Given the description of an element on the screen output the (x, y) to click on. 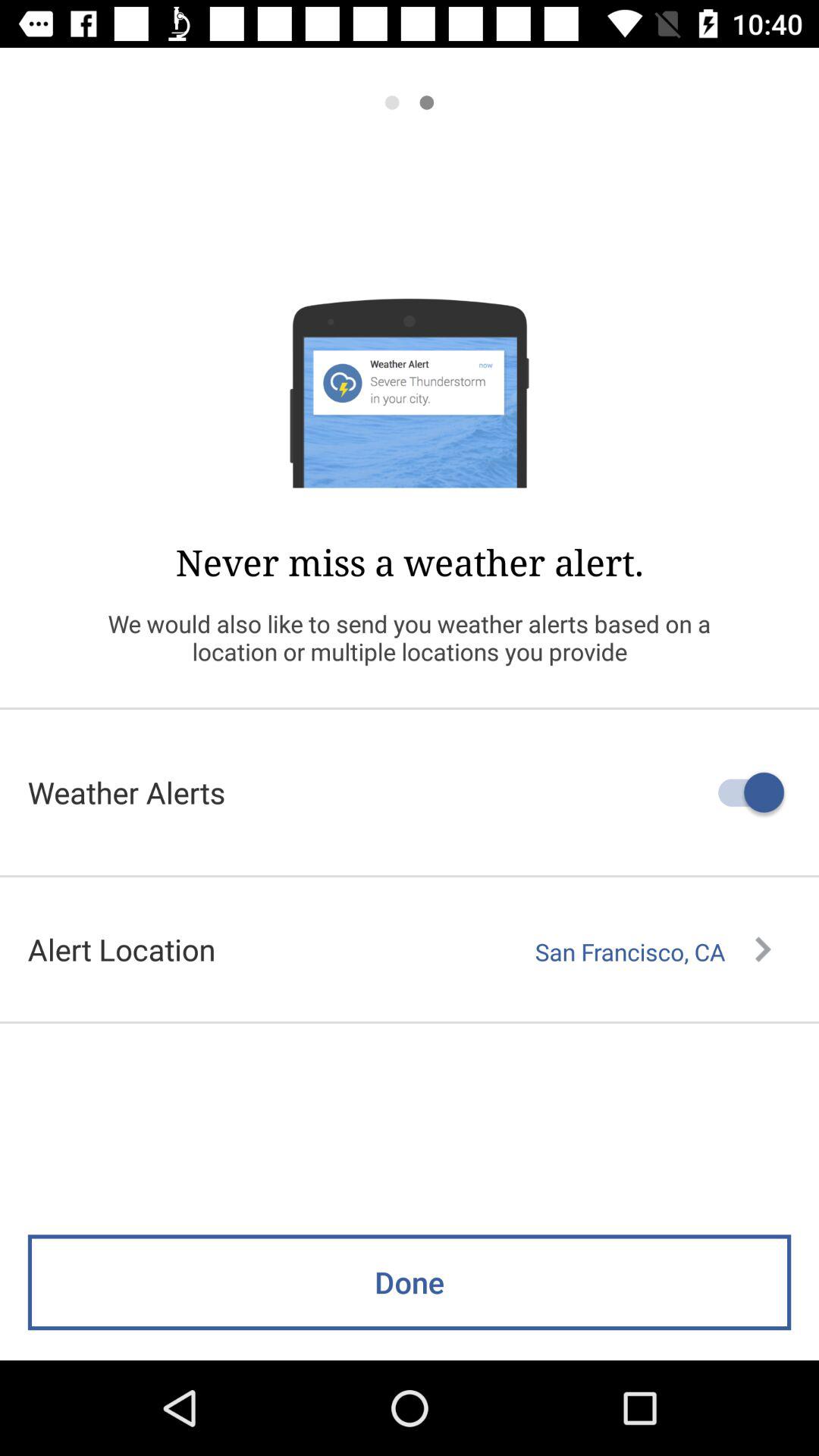
click san francisco, ca item (653, 951)
